Given the description of an element on the screen output the (x, y) to click on. 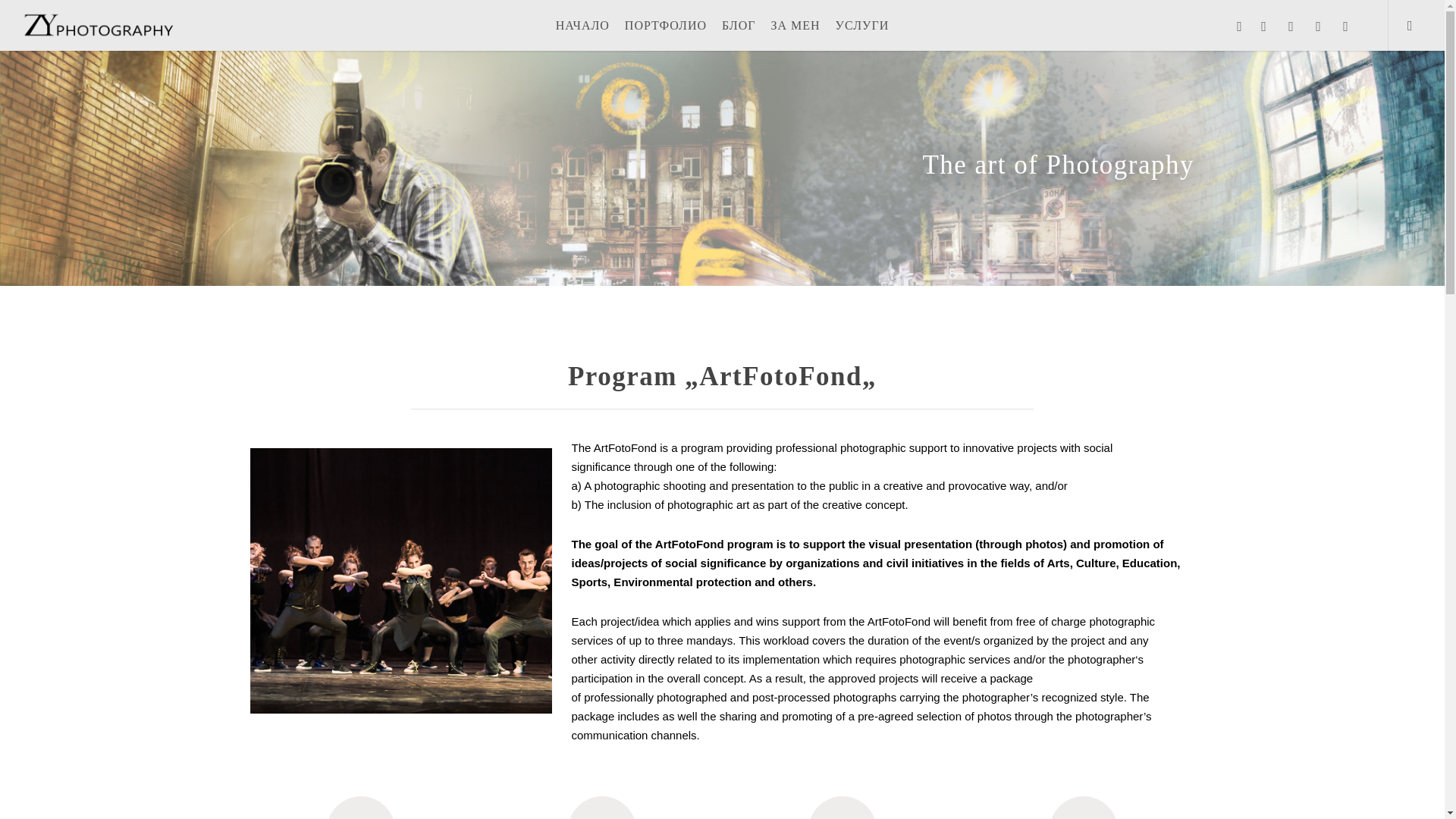
search (1415, 25)
PINTEREST (1264, 24)
LINKEDIN (1291, 24)
FACEBOOK (1239, 24)
INSTAGRAM (1318, 24)
FLICKR (1345, 24)
